Given the description of an element on the screen output the (x, y) to click on. 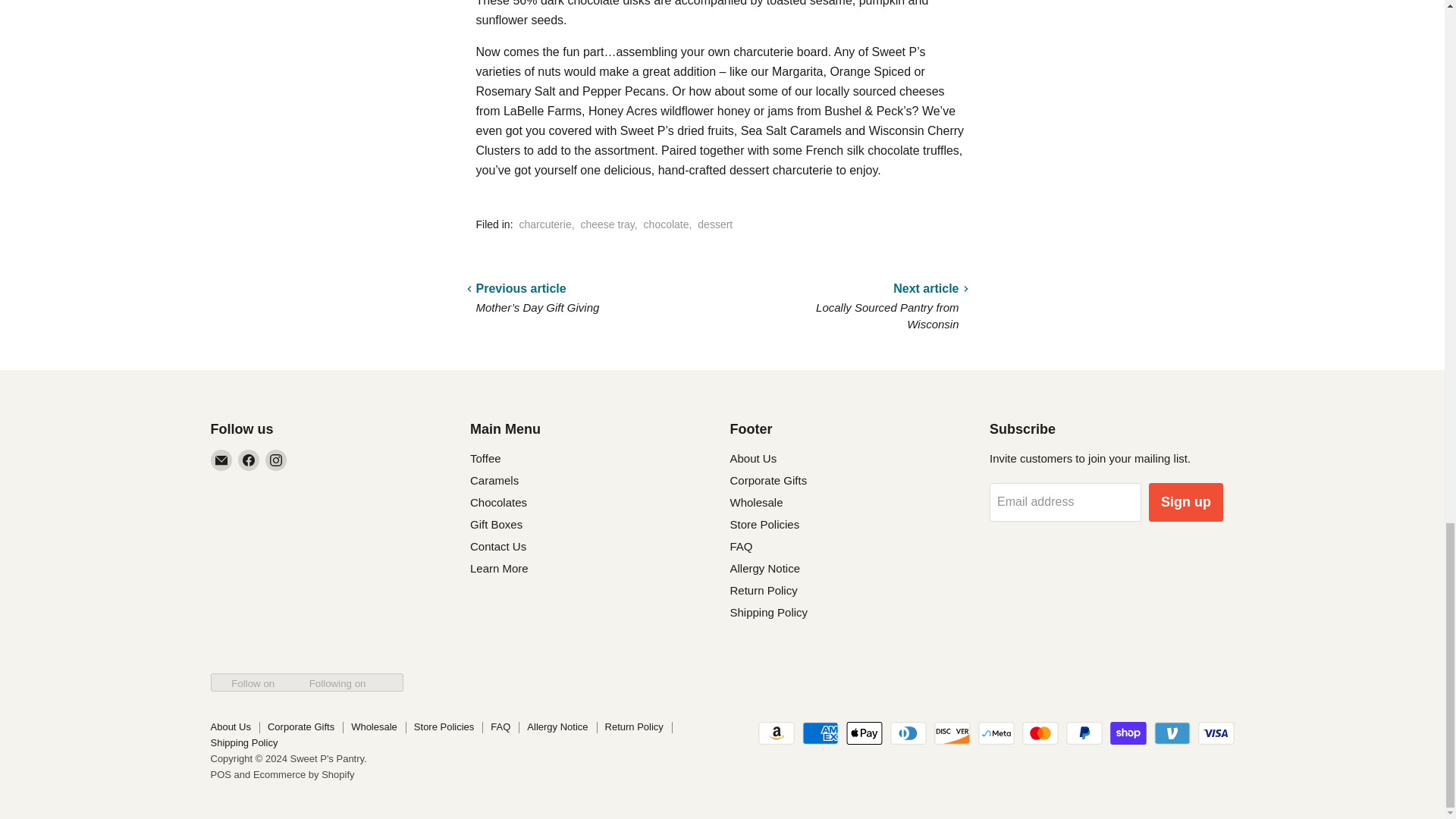
Amazon (776, 732)
Instagram (275, 459)
Show articles tagged chocolate (665, 224)
Email (221, 459)
Show articles tagged charcuterie (544, 224)
Show articles tagged dessert (714, 224)
Facebook (248, 459)
Show articles tagged cheese tray (606, 224)
